Given the description of an element on the screen output the (x, y) to click on. 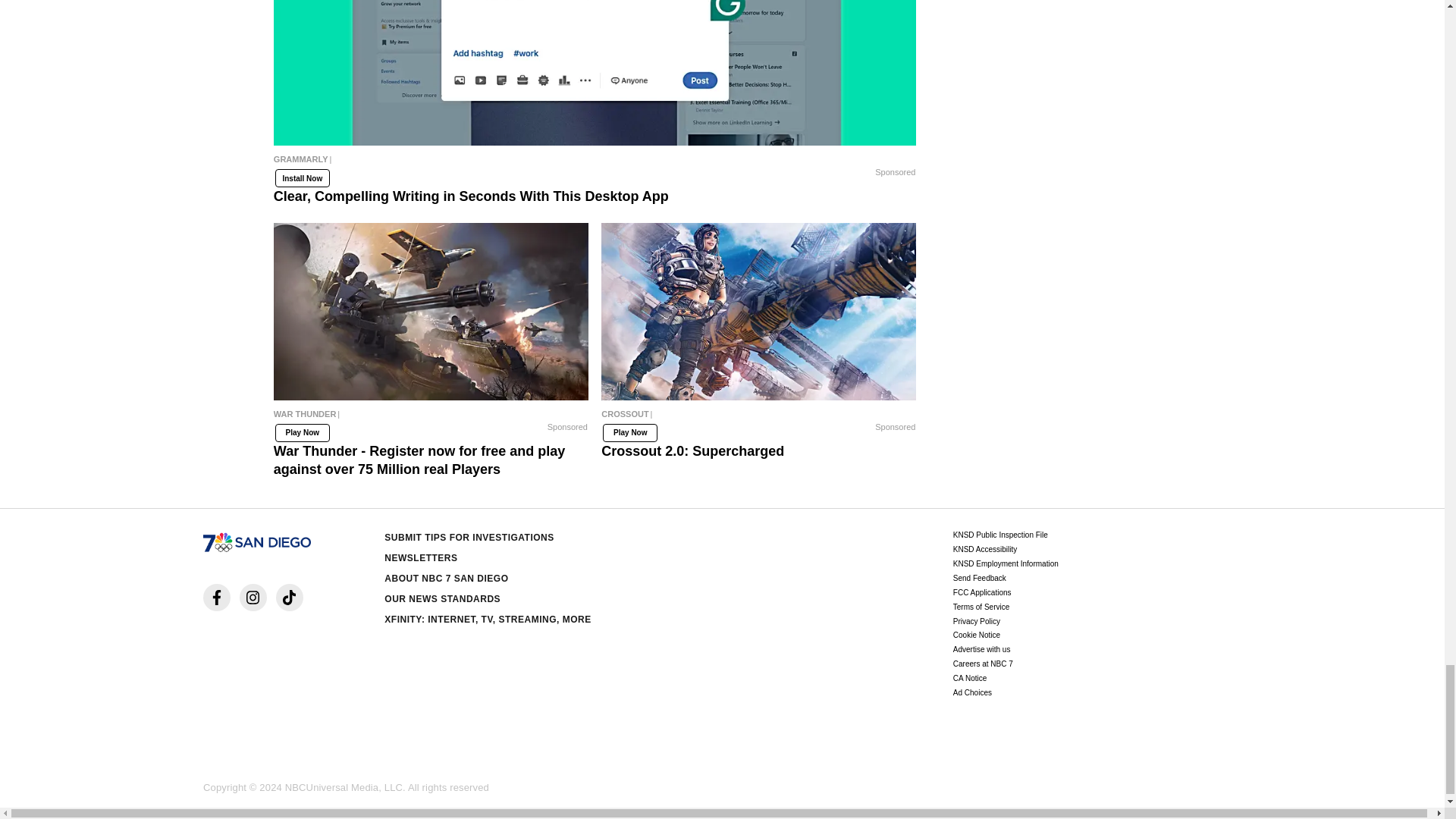
Crossout 2.0: Supercharged (758, 417)
Crossout 2.0: Supercharged (758, 311)
Clear, Compelling Writing in Seconds With This Desktop App (595, 72)
Clear, Compelling Writing in Seconds With This Desktop App (595, 162)
